Given the description of an element on the screen output the (x, y) to click on. 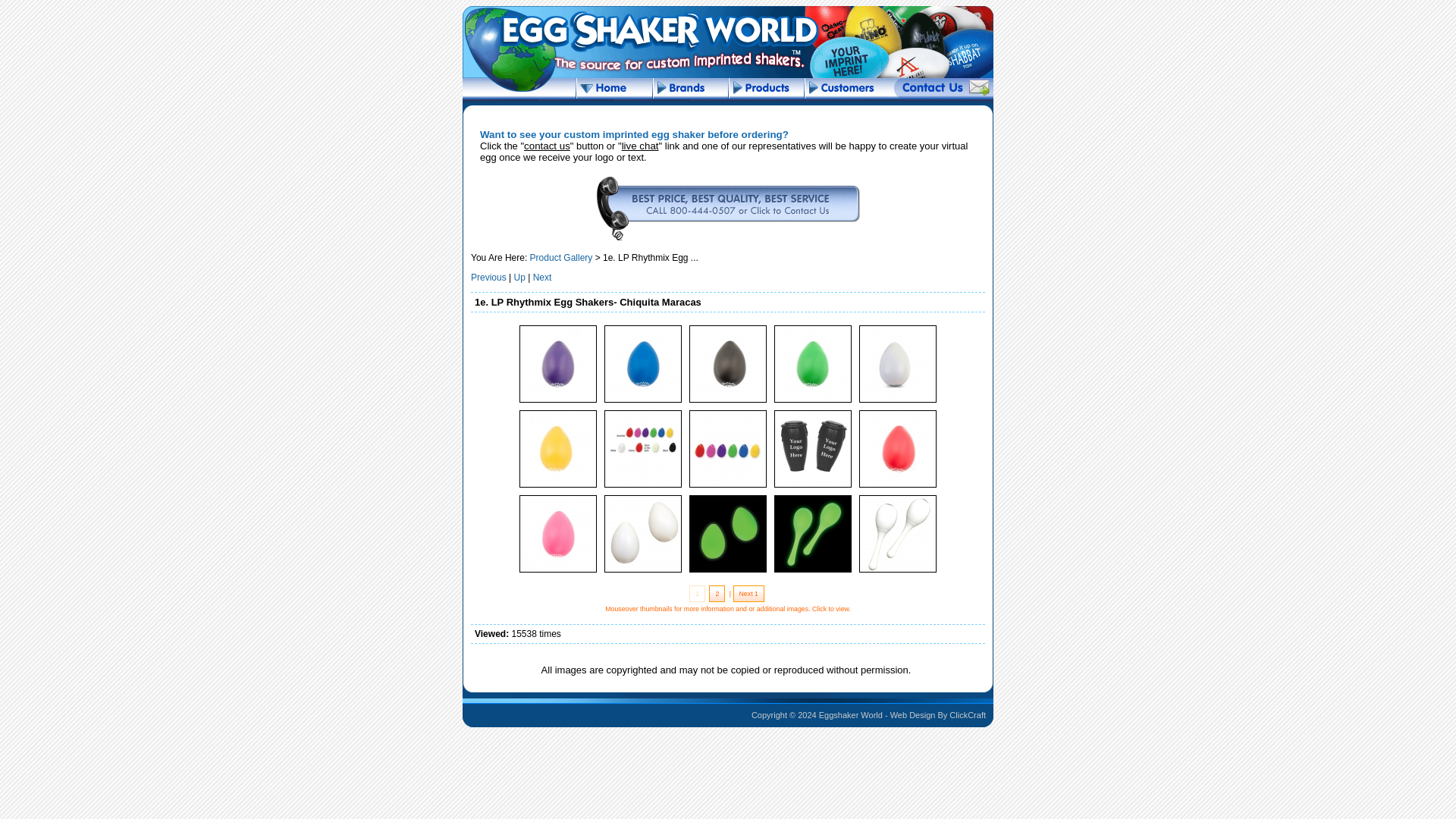
LPR004-SS (557, 486)
Glow-LP-Rhythix-EggLP004-GLO-2 (727, 571)
LPR004-BK (727, 401)
2 (717, 593)
live chat (640, 145)
LPR004-PU (557, 401)
LP Conga Drum Shakers (812, 486)
Previous (488, 276)
Next (541, 276)
LP011-Glo-White (898, 571)
LP-Eggs (643, 486)
LPR004-LM (812, 401)
Glow-LP-Ryhtymix-Egg-Shaker--LP004-GLO (643, 571)
LP White Egg Shaker (898, 401)
contact us (547, 145)
